Given the description of an element on the screen output the (x, y) to click on. 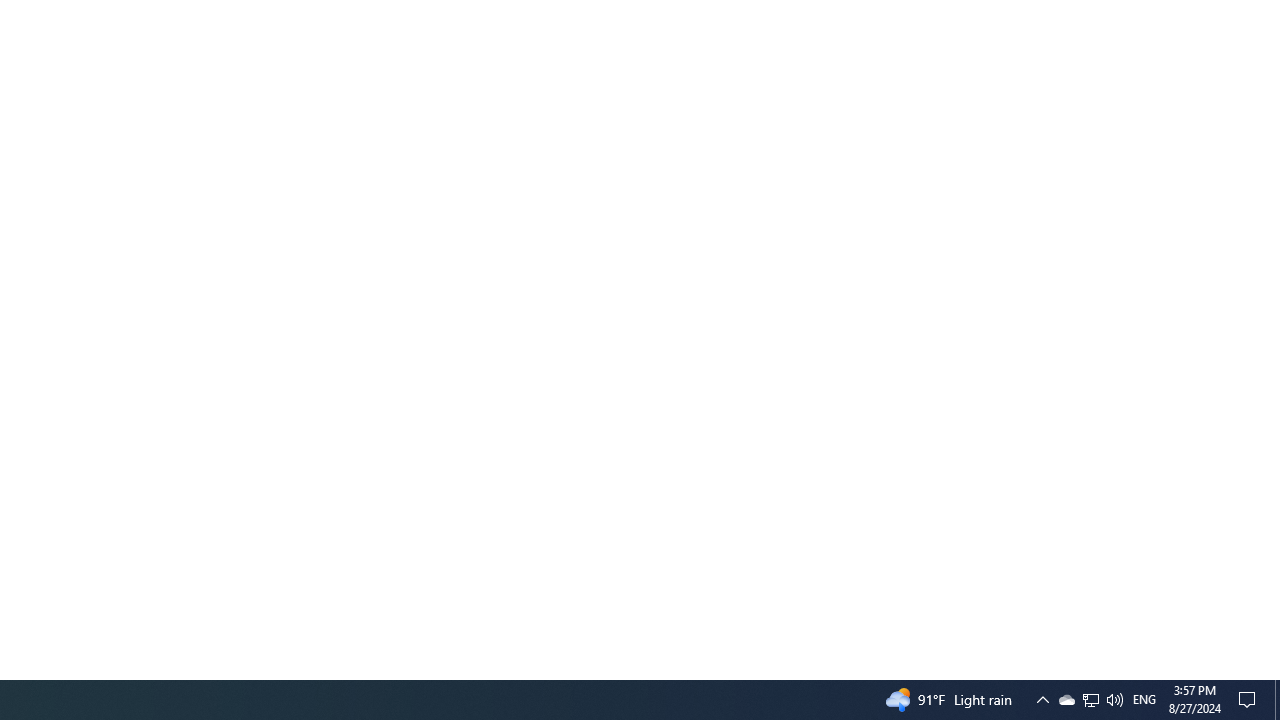
Tray Input Indicator - English (United States) (1144, 699)
